Given the description of an element on the screen output the (x, y) to click on. 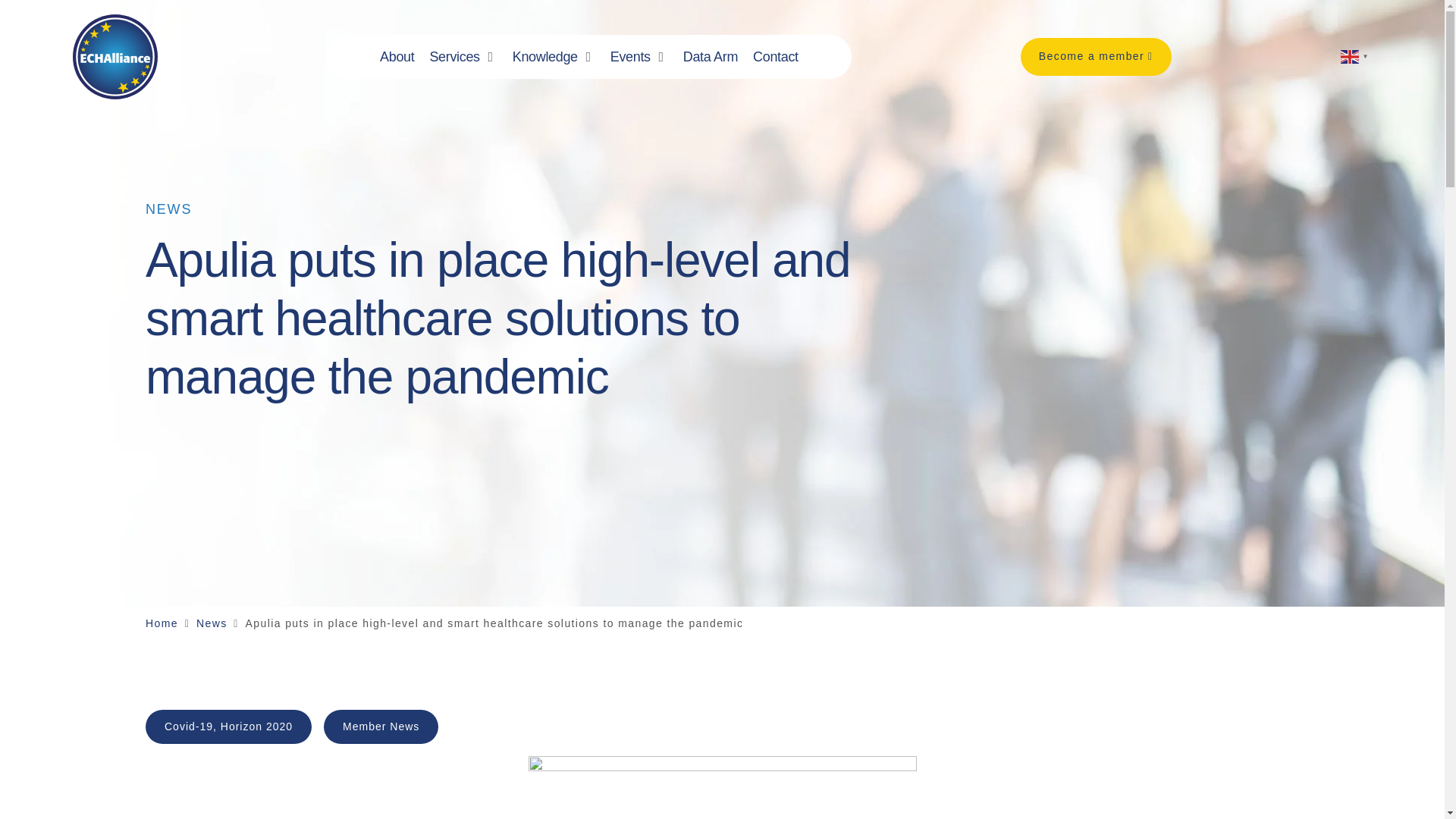
News (211, 623)
Services (454, 56)
Home (161, 623)
Knowledge (545, 56)
Events (630, 56)
About (396, 56)
